Given the description of an element on the screen output the (x, y) to click on. 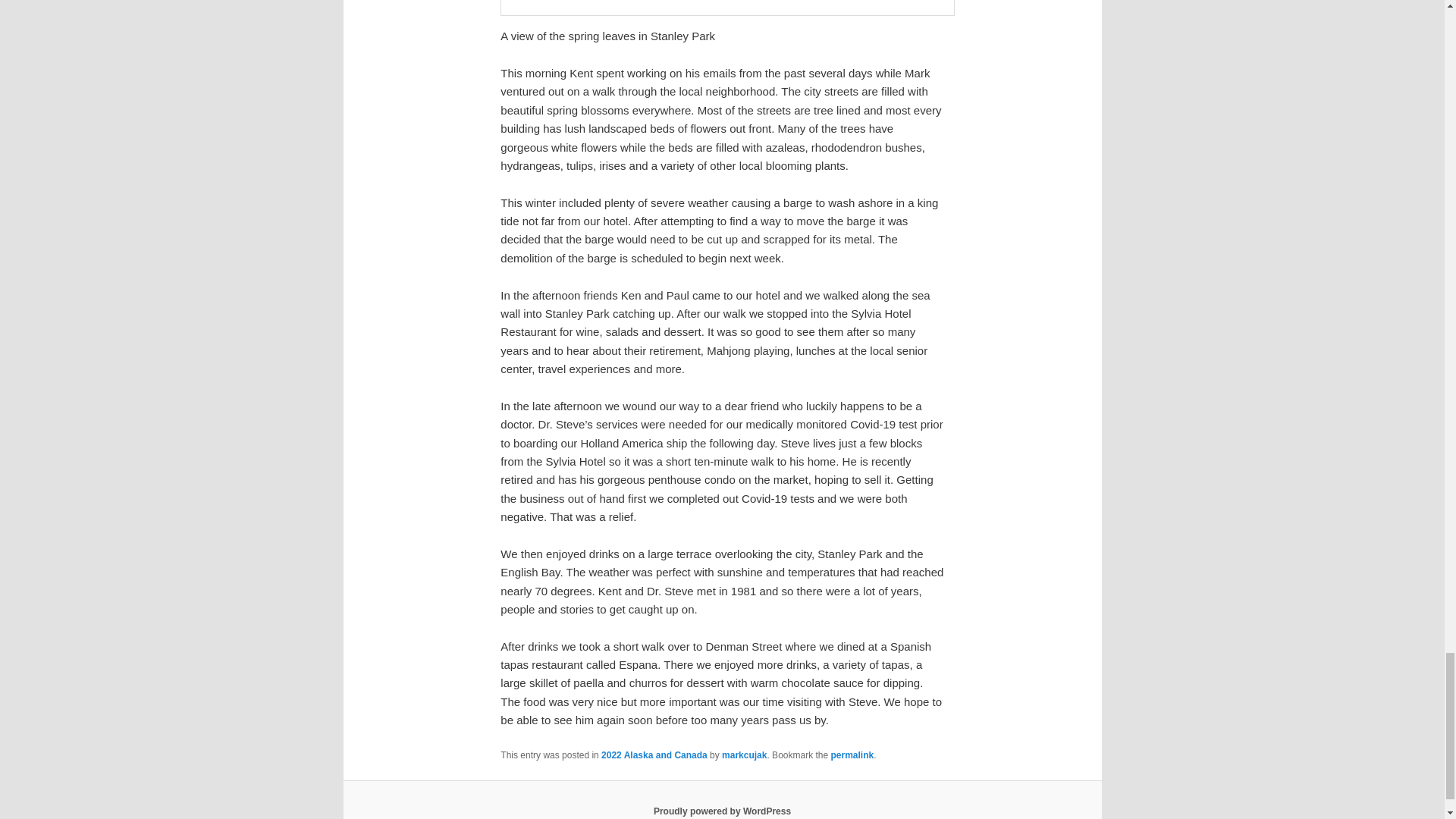
markcujak (744, 755)
Semantic Personal Publishing Platform (721, 810)
permalink (853, 755)
2022 Alaska and Canada (654, 755)
Proudly powered by WordPress (721, 810)
Permalink to Saturday May 21, 2022	Vancouver, Canada (853, 755)
